Given the description of an element on the screen output the (x, y) to click on. 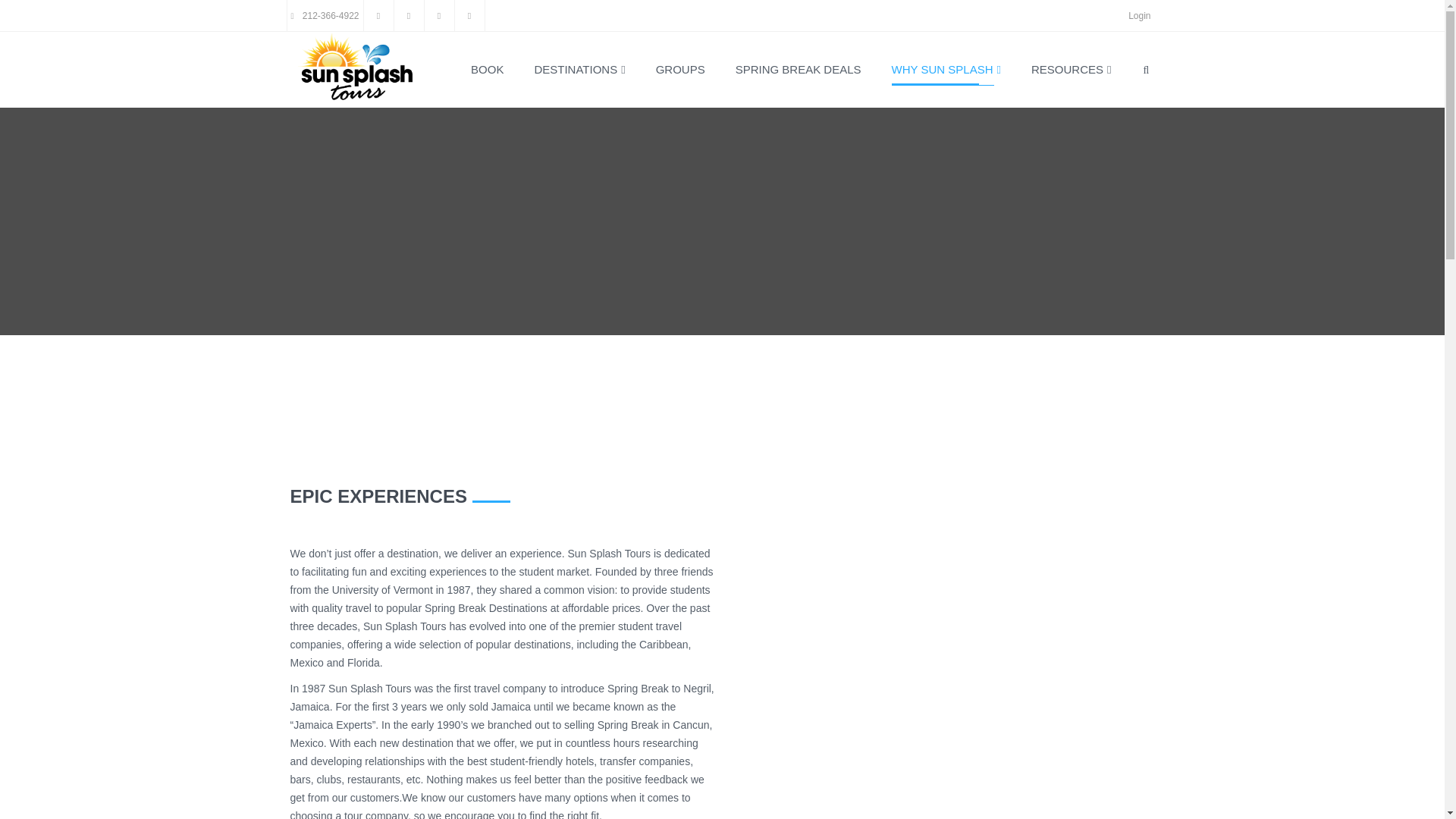
SPRING BREAK DEALS (798, 69)
WHY SUN SPLASH (946, 69)
DESTINATIONS (579, 69)
212-366-4922 (325, 15)
Login (1139, 15)
